Given the description of an element on the screen output the (x, y) to click on. 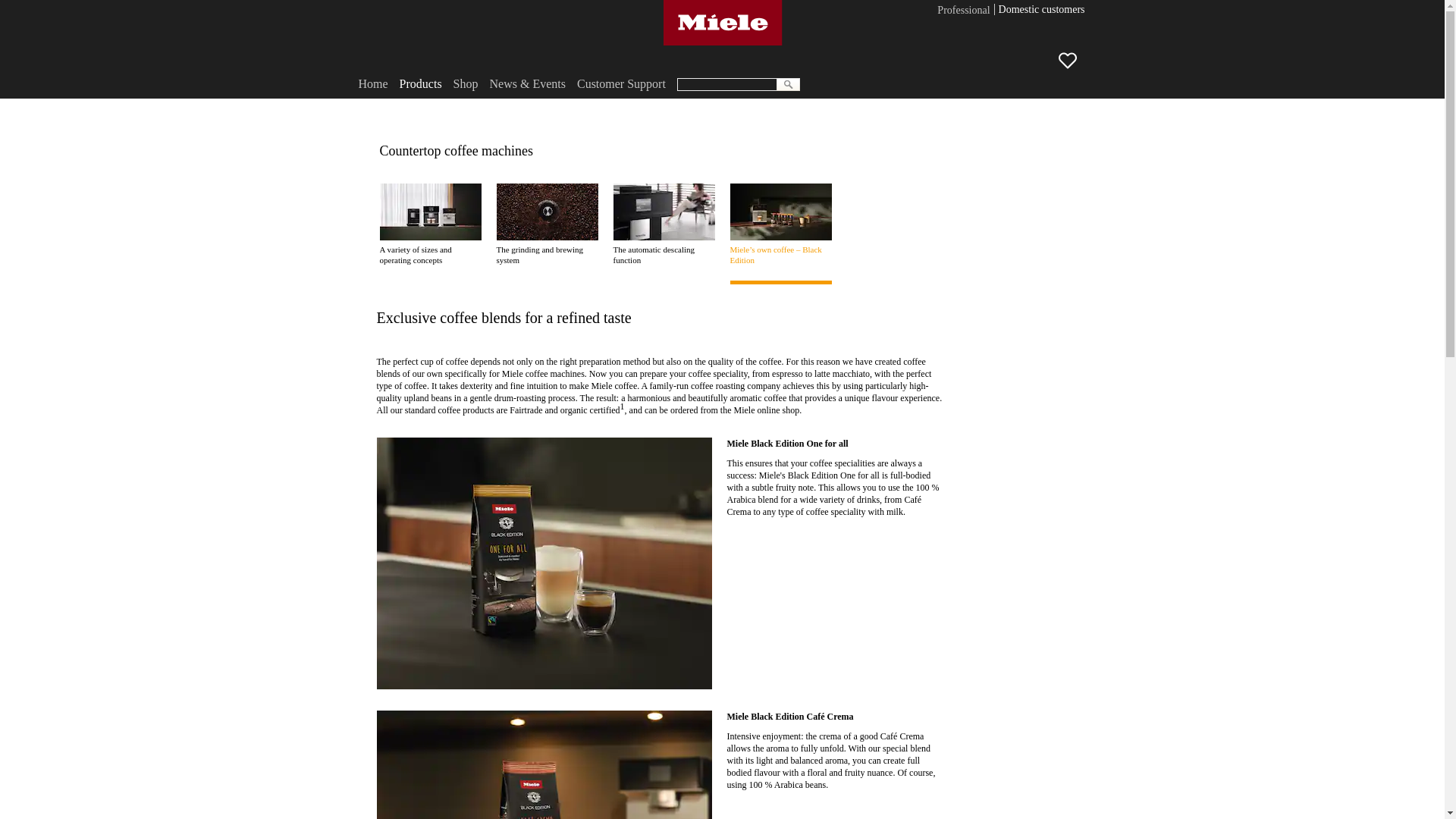
Products (420, 83)
Domestic customers (1041, 11)
Wish list (1067, 60)
A variety of sizes and operating concepts (429, 224)
Home (372, 83)
The automatic descaling function (663, 224)
Customer Support (620, 83)
Professional (963, 11)
Wish list (1074, 63)
The grinding and brewing system (546, 224)
Shop (465, 83)
